Given the description of an element on the screen output the (x, y) to click on. 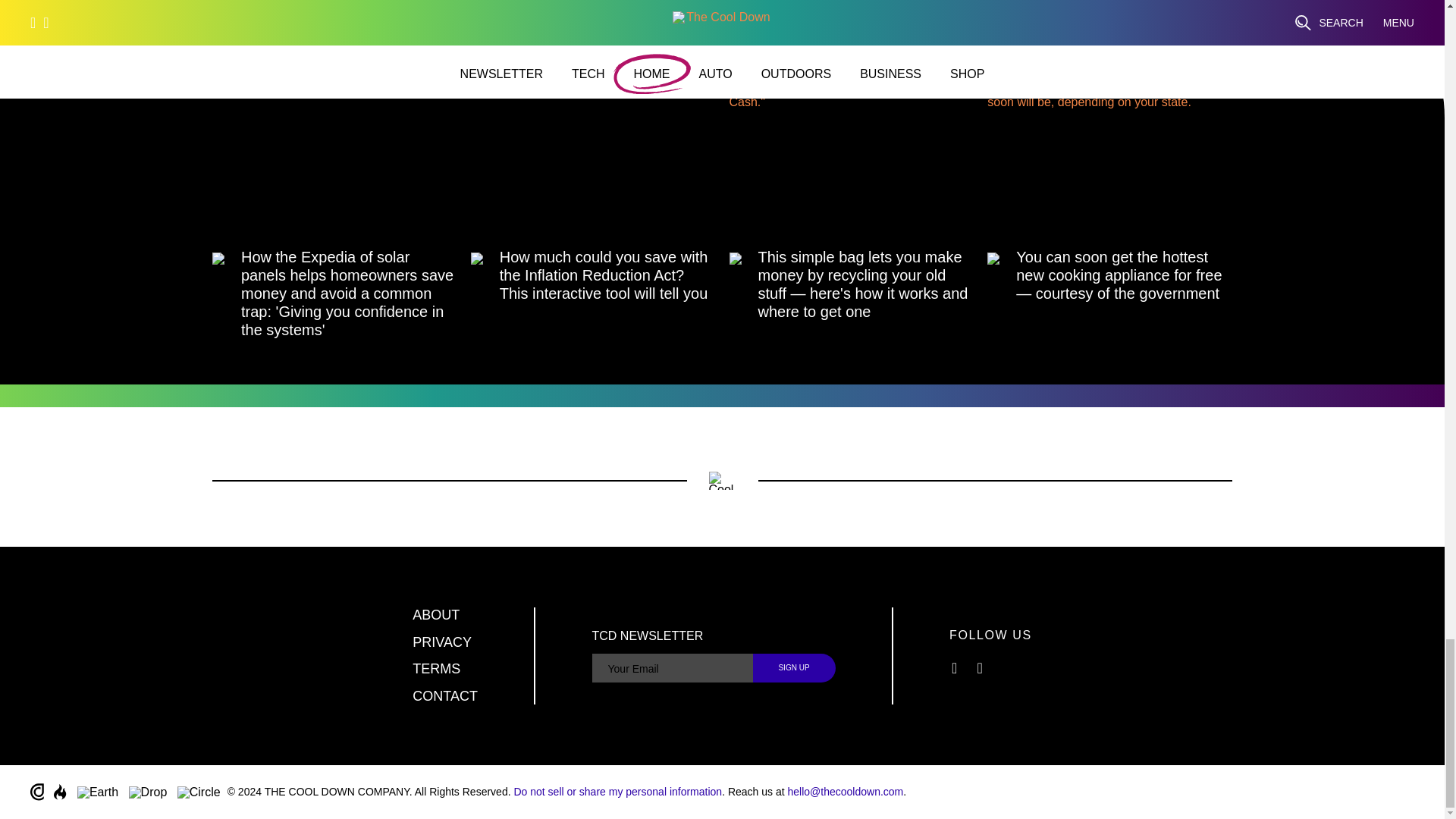
Sign Up (793, 667)
